Given the description of an element on the screen output the (x, y) to click on. 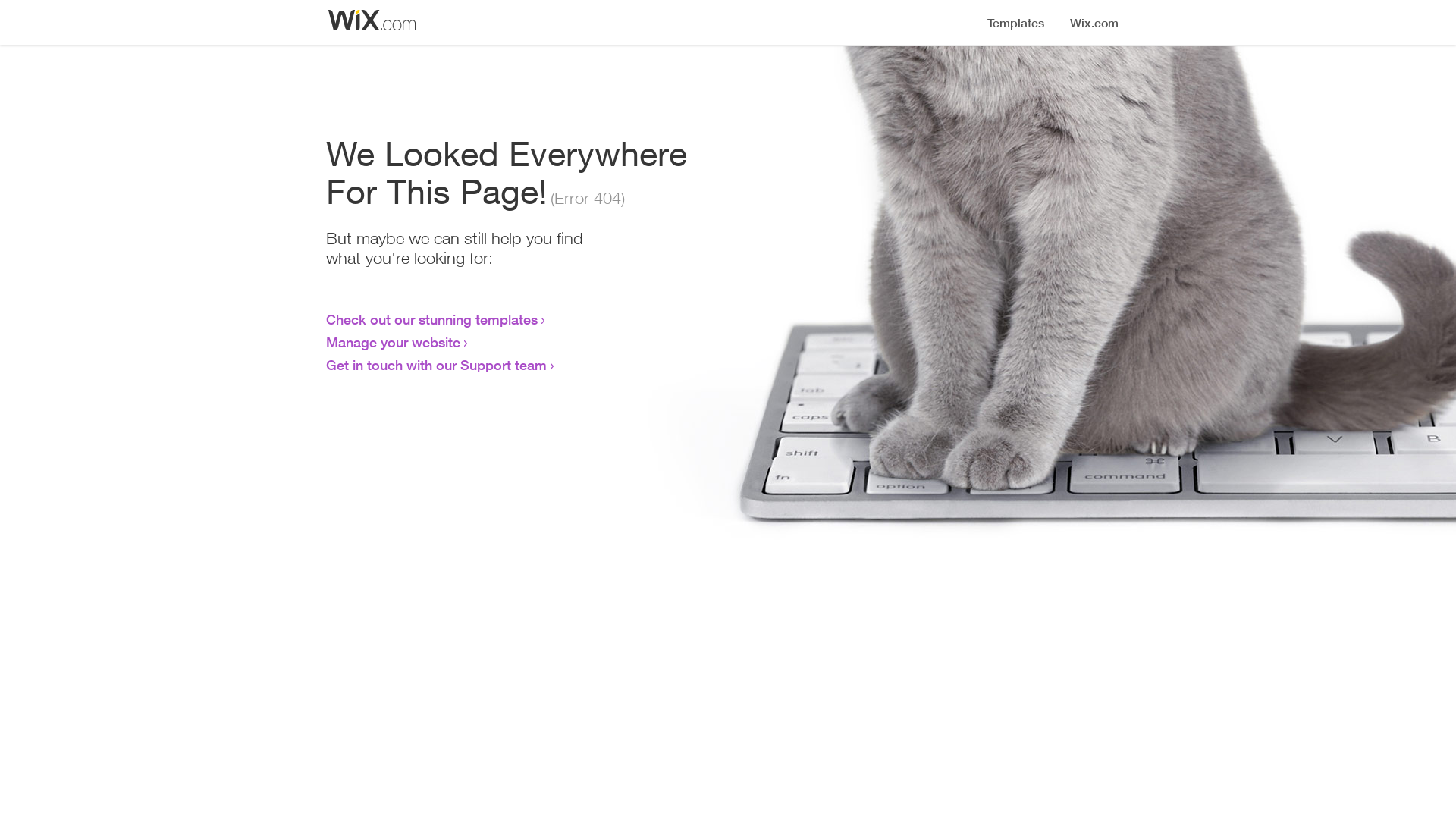
Get in touch with our Support team Element type: text (436, 364)
Manage your website Element type: text (393, 341)
Check out our stunning templates Element type: text (431, 318)
